Given the description of an element on the screen output the (x, y) to click on. 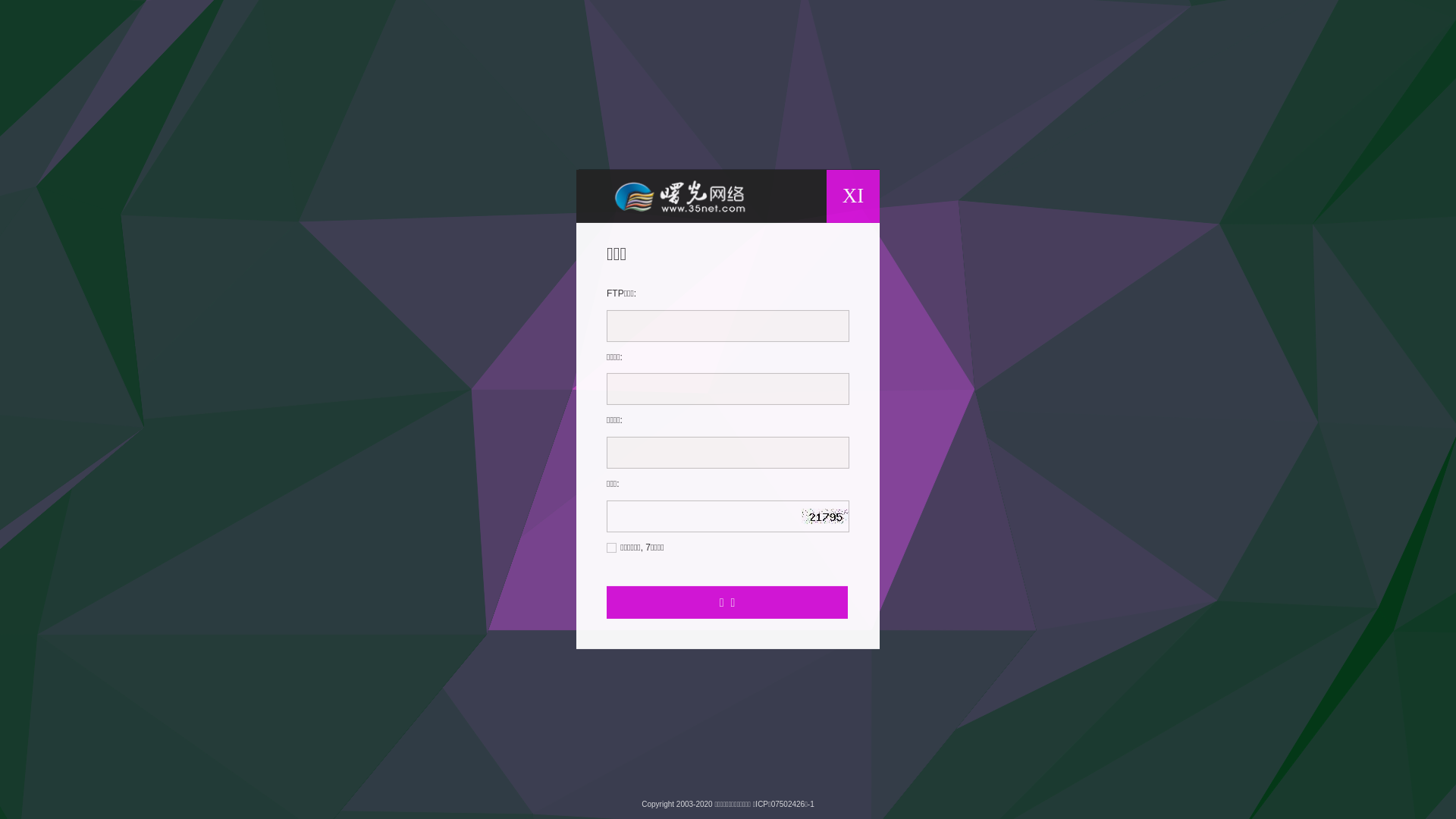
  Element type: text (841, 510)
